Given the description of an element on the screen output the (x, y) to click on. 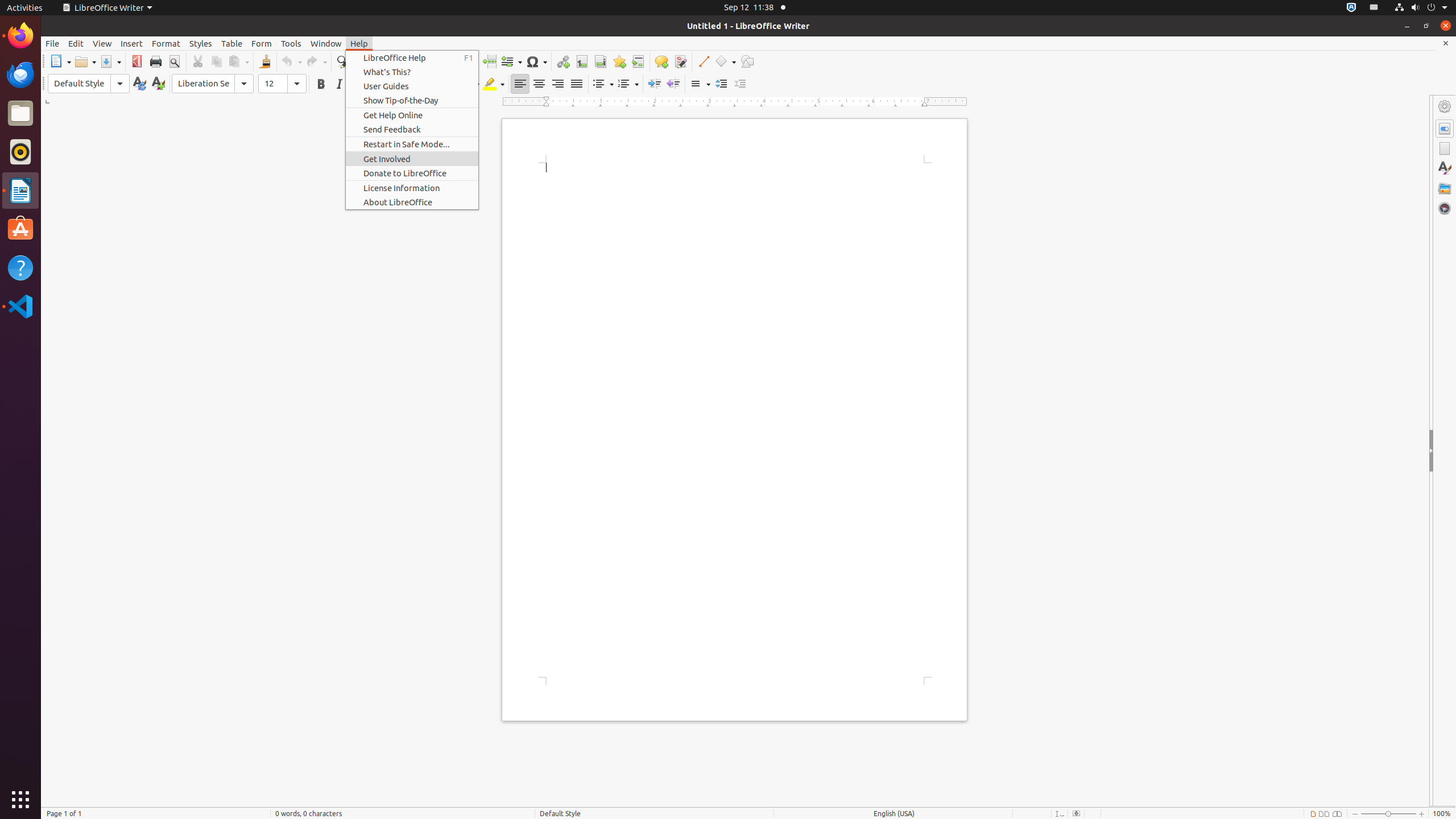
Thunderbird Mail Element type: push-button (20, 74)
Open Element type: push-button (84, 61)
Update Element type: push-button (138, 83)
Field Element type: push-button (510, 61)
Undo Element type: push-button (290, 61)
